Given the description of an element on the screen output the (x, y) to click on. 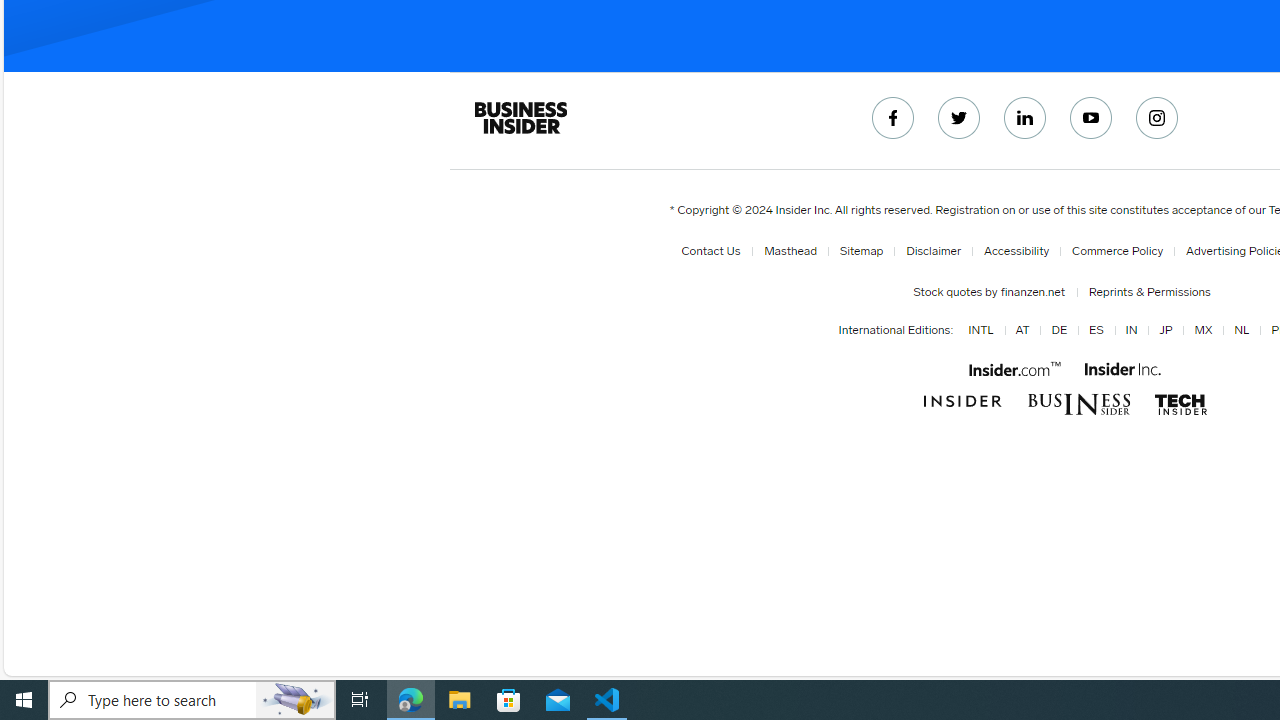
AT (1022, 331)
International Editions: (895, 330)
INTL (980, 331)
Click to visit us on Instagram (1157, 117)
IN (1127, 331)
ES (1092, 331)
Stock quotes byfinanzen.net (992, 291)
Tech Insider Logo (1180, 404)
ES (1095, 331)
Insider.com TM Logo (1014, 368)
Contact Us (713, 251)
JP (1162, 331)
Insider-Inc Logo (1123, 369)
Commerce Policy (1117, 251)
